Given the description of an element on the screen output the (x, y) to click on. 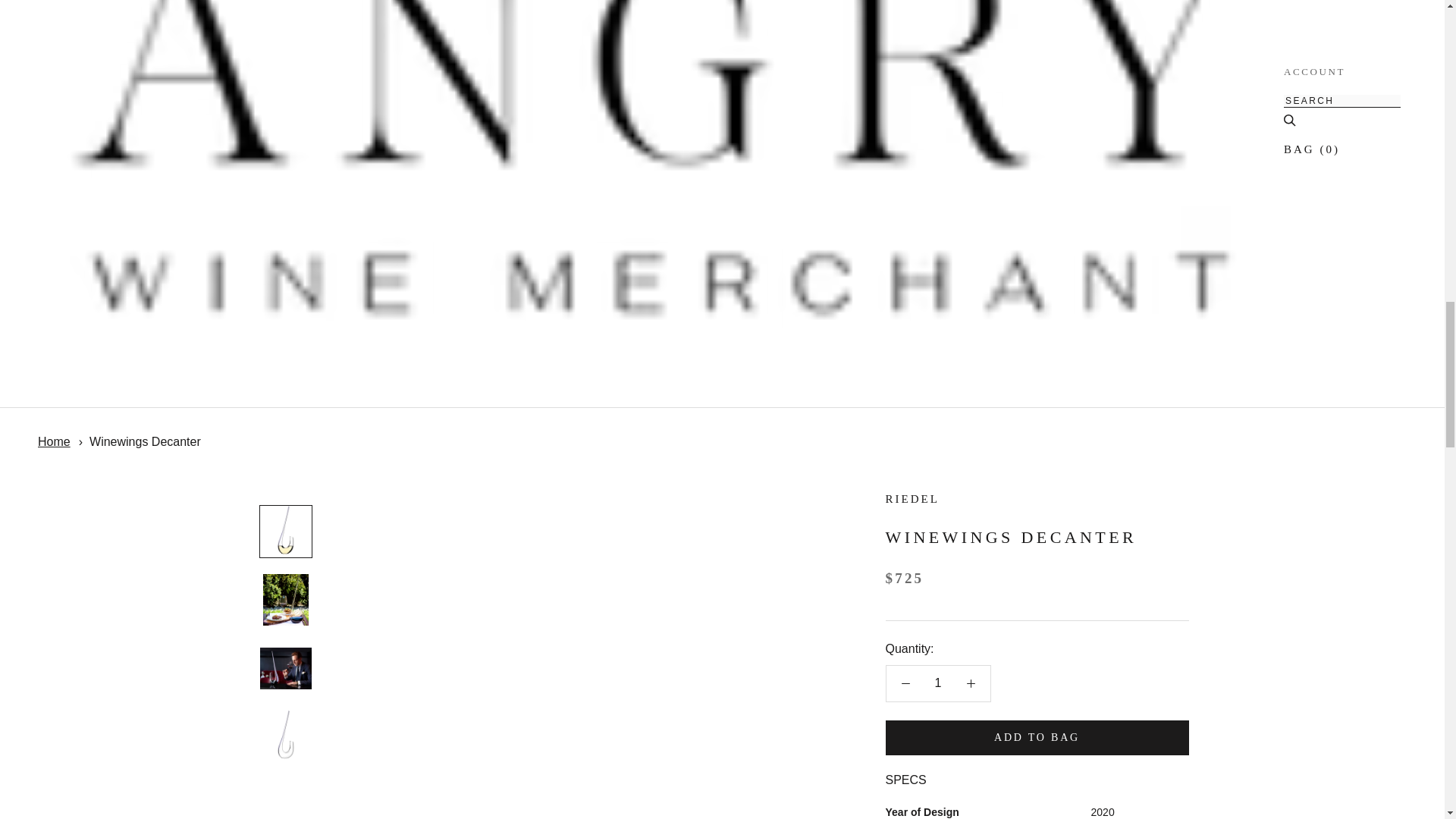
Winewings Decanter (144, 440)
Home (53, 440)
1 (938, 683)
RIEDEL (912, 499)
ACCOUNT (1314, 71)
Home (53, 440)
ADD TO BAG (1037, 737)
